Given the description of an element on the screen output the (x, y) to click on. 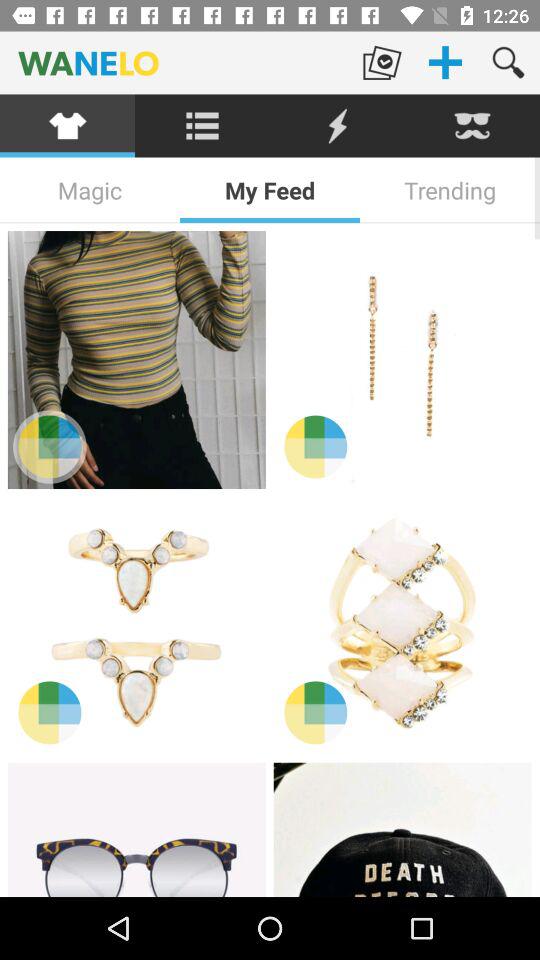
app settings (202, 125)
